Given the description of an element on the screen output the (x, y) to click on. 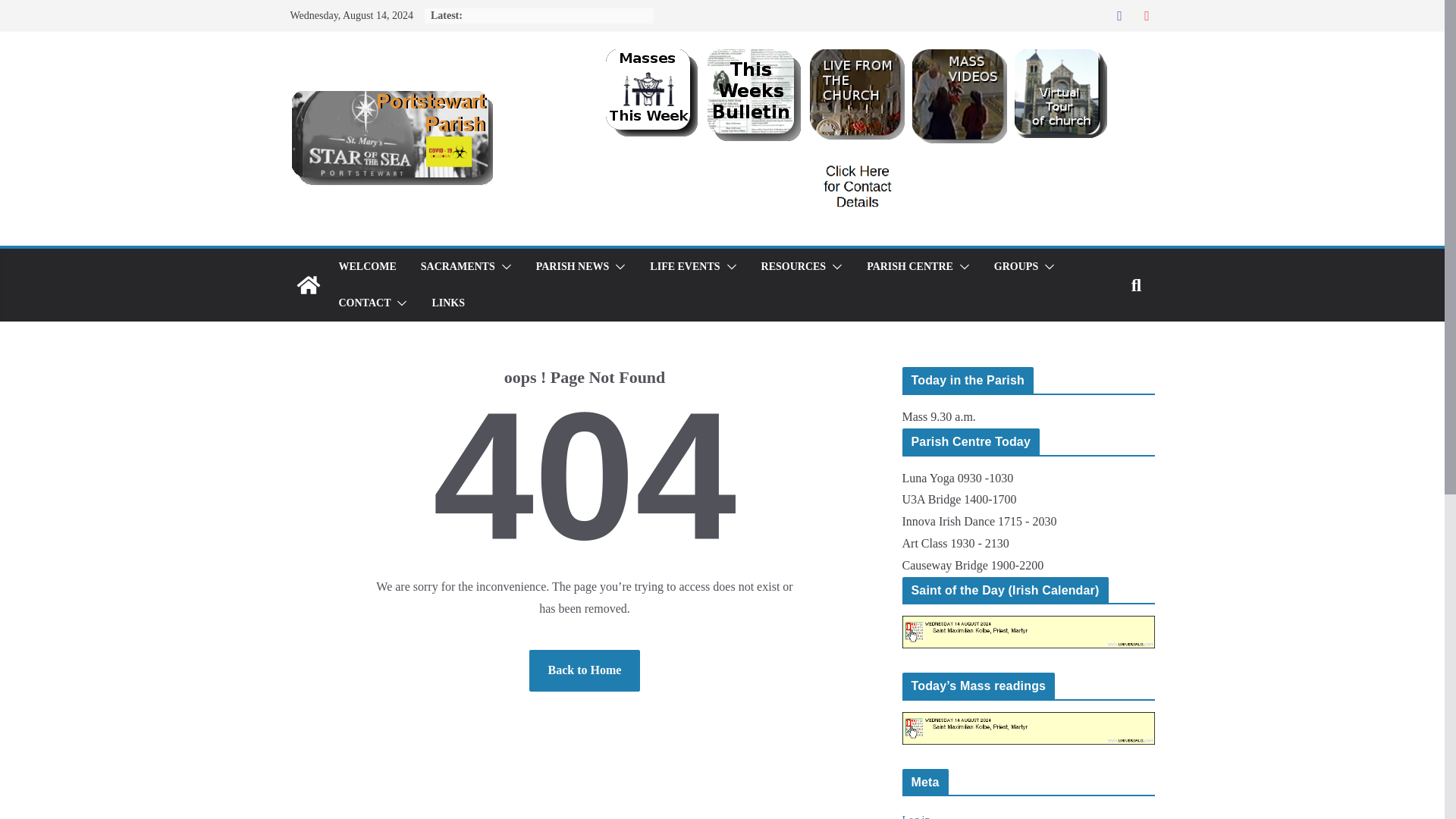
LIFE EVENTS (684, 266)
WELCOME (366, 266)
PARISH NEWS (572, 266)
RESOURCES (794, 266)
SACRAMENTS (457, 266)
Portstewart Parish (307, 284)
